Given the description of an element on the screen output the (x, y) to click on. 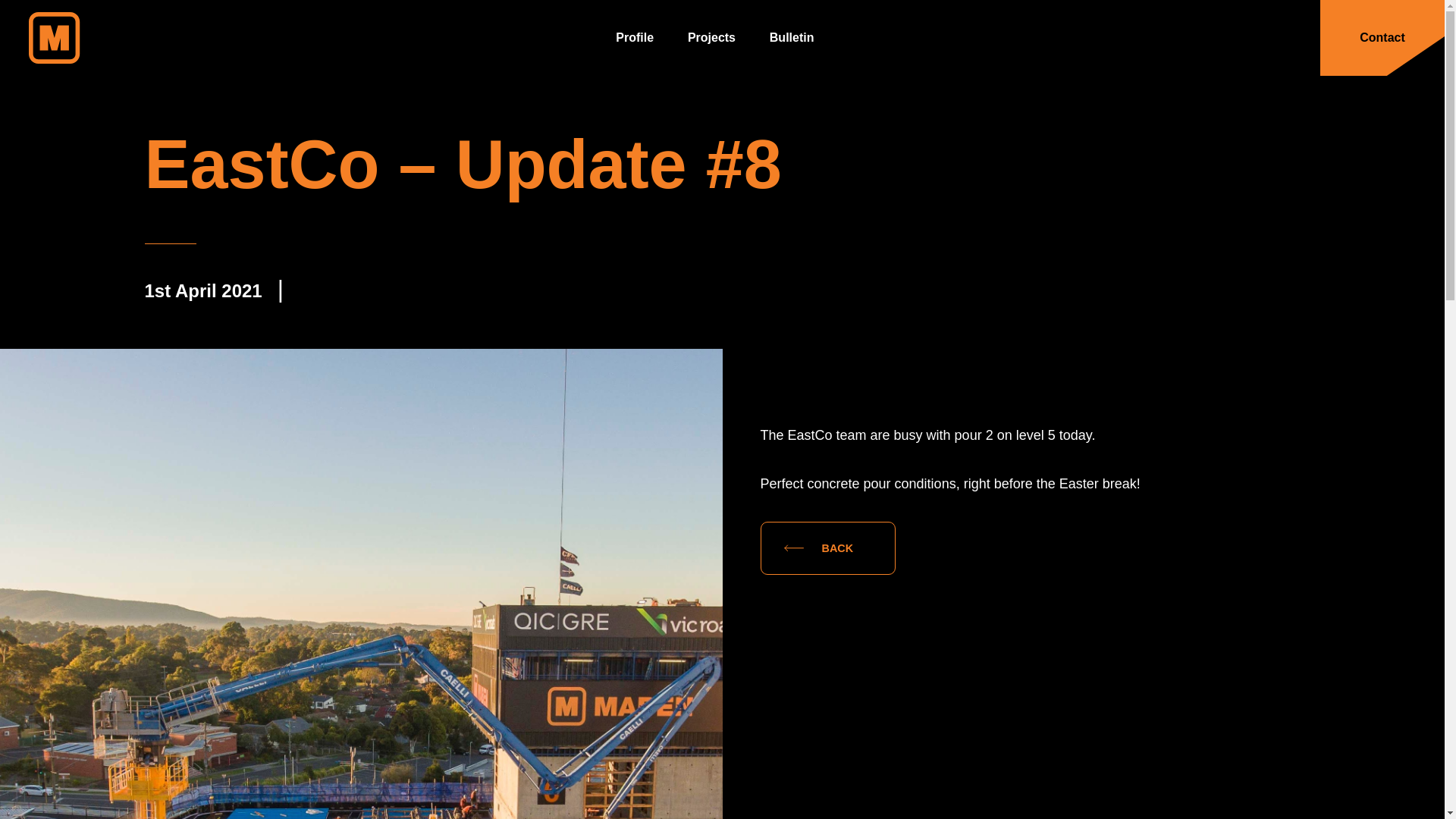
Profile Element type: text (635, 37)
BACK Element type: text (827, 548)
Contact Element type: text (1382, 37)
Bulletin Element type: text (791, 37)
Projects Element type: text (711, 37)
